Given the description of an element on the screen output the (x, y) to click on. 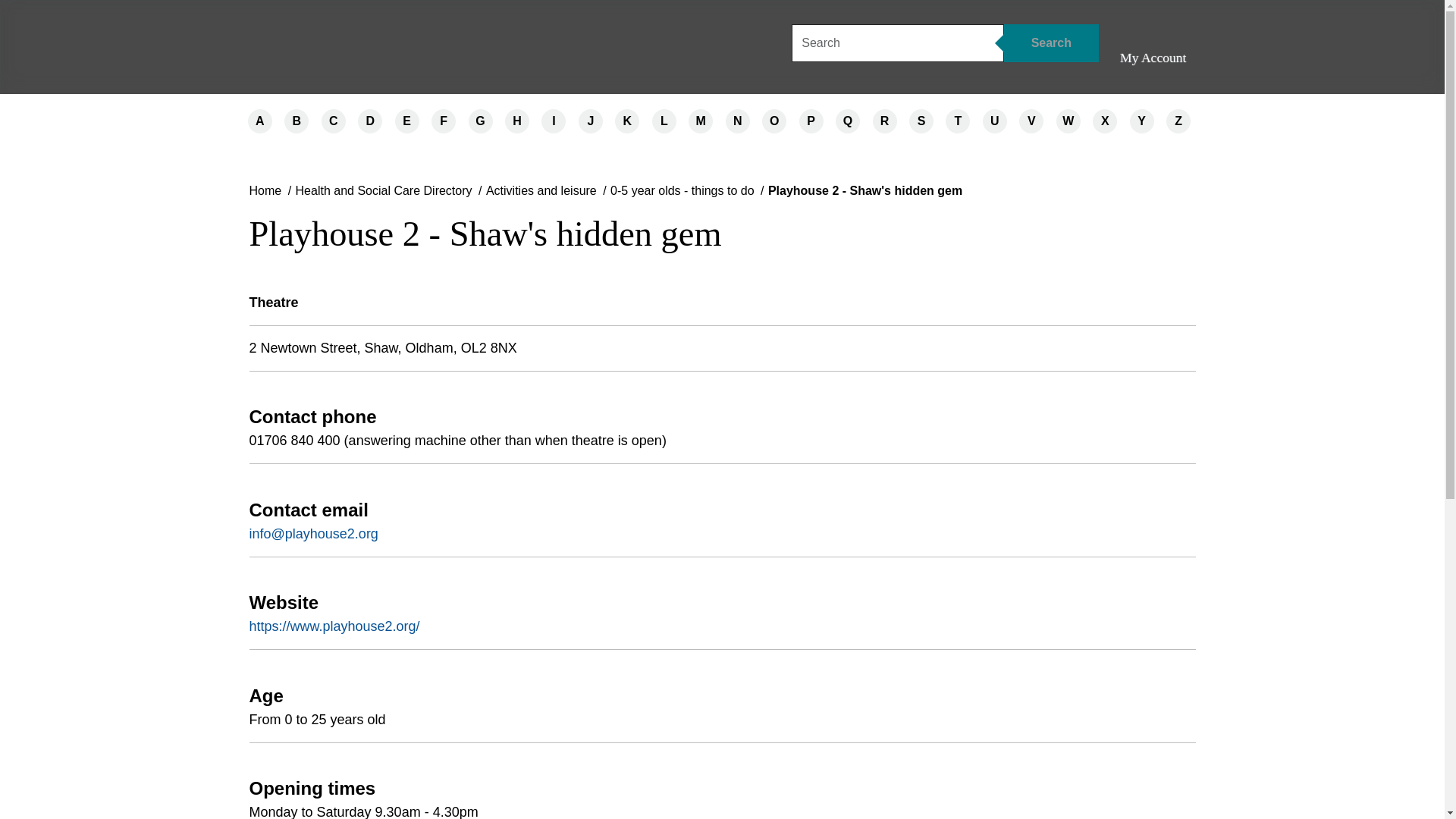
P (811, 120)
S (920, 120)
E (406, 120)
Y (1141, 120)
M (700, 120)
Activities and leisure (541, 190)
Q (847, 120)
X (1104, 120)
V (1031, 120)
Search (1051, 43)
